Given the description of an element on the screen output the (x, y) to click on. 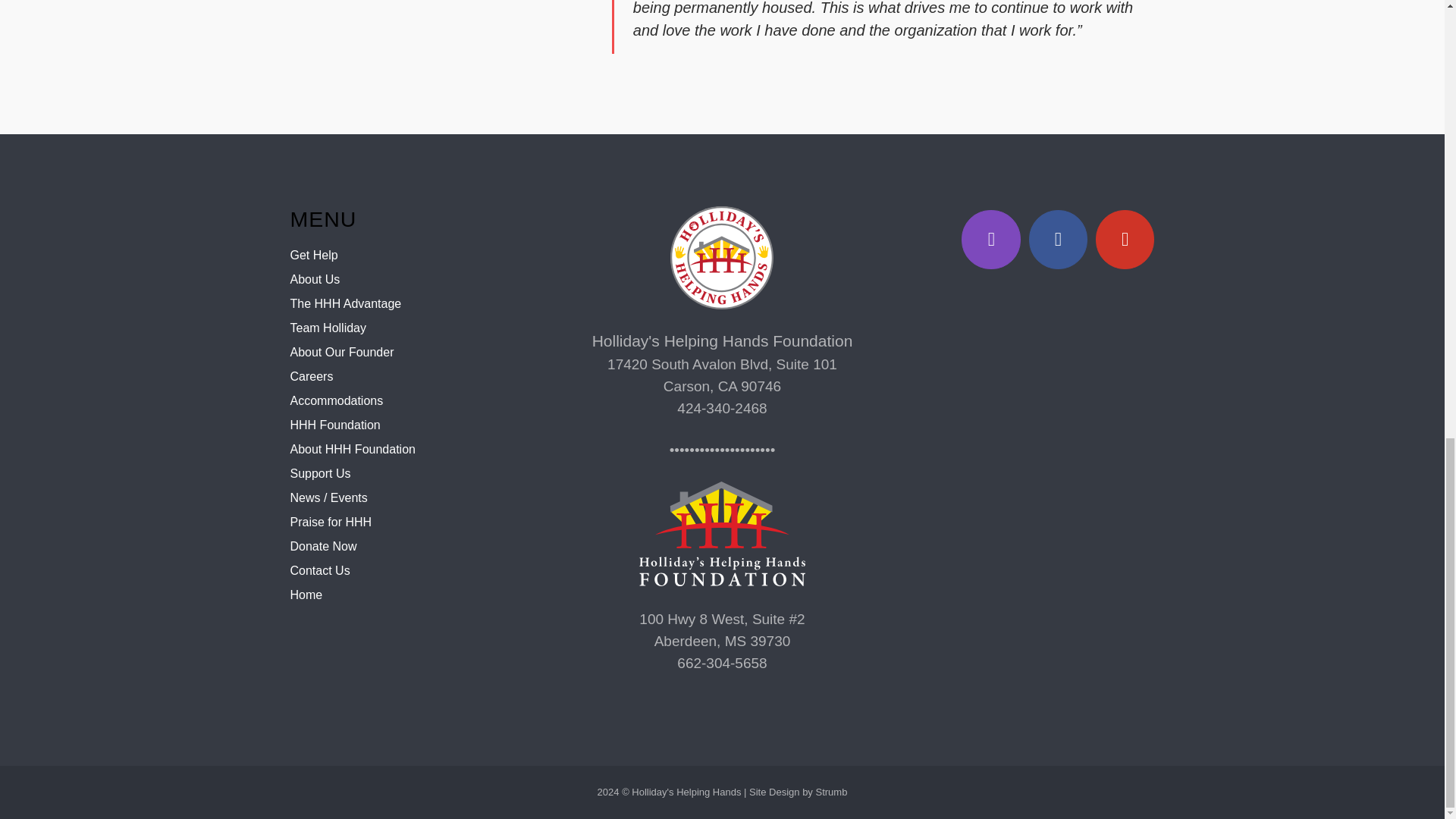
HHH Foundation (334, 424)
Donate Now (322, 545)
Careers (311, 376)
Team Holliday (327, 327)
About Us (314, 278)
Get Help (313, 254)
Holliday's Helping Hands on Instagram (990, 239)
Support Us (319, 472)
Home (305, 594)
The HHH Advantage (345, 303)
